Given the description of an element on the screen output the (x, y) to click on. 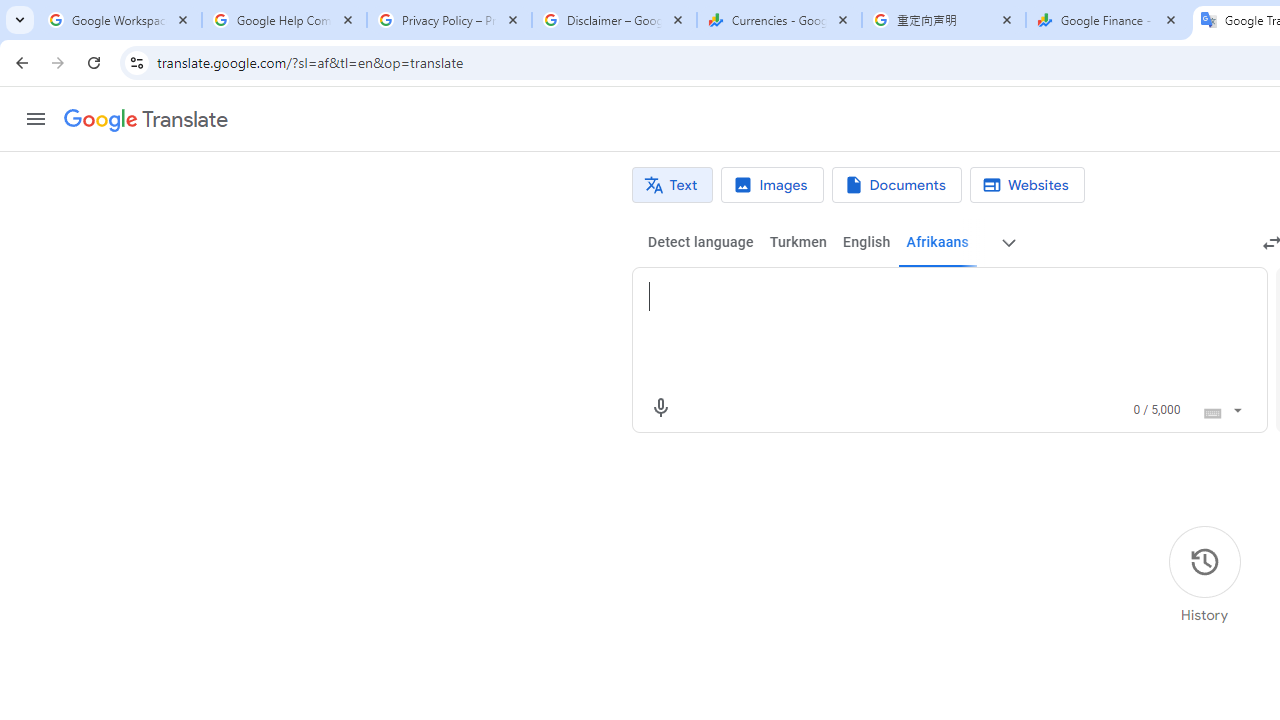
Currencies - Google Finance (779, 20)
Website translation (1026, 185)
History (1204, 575)
Text translation (672, 185)
Google Workspace Admin Community (119, 20)
English (866, 242)
Turkmen (797, 242)
